Given the description of an element on the screen output the (x, y) to click on. 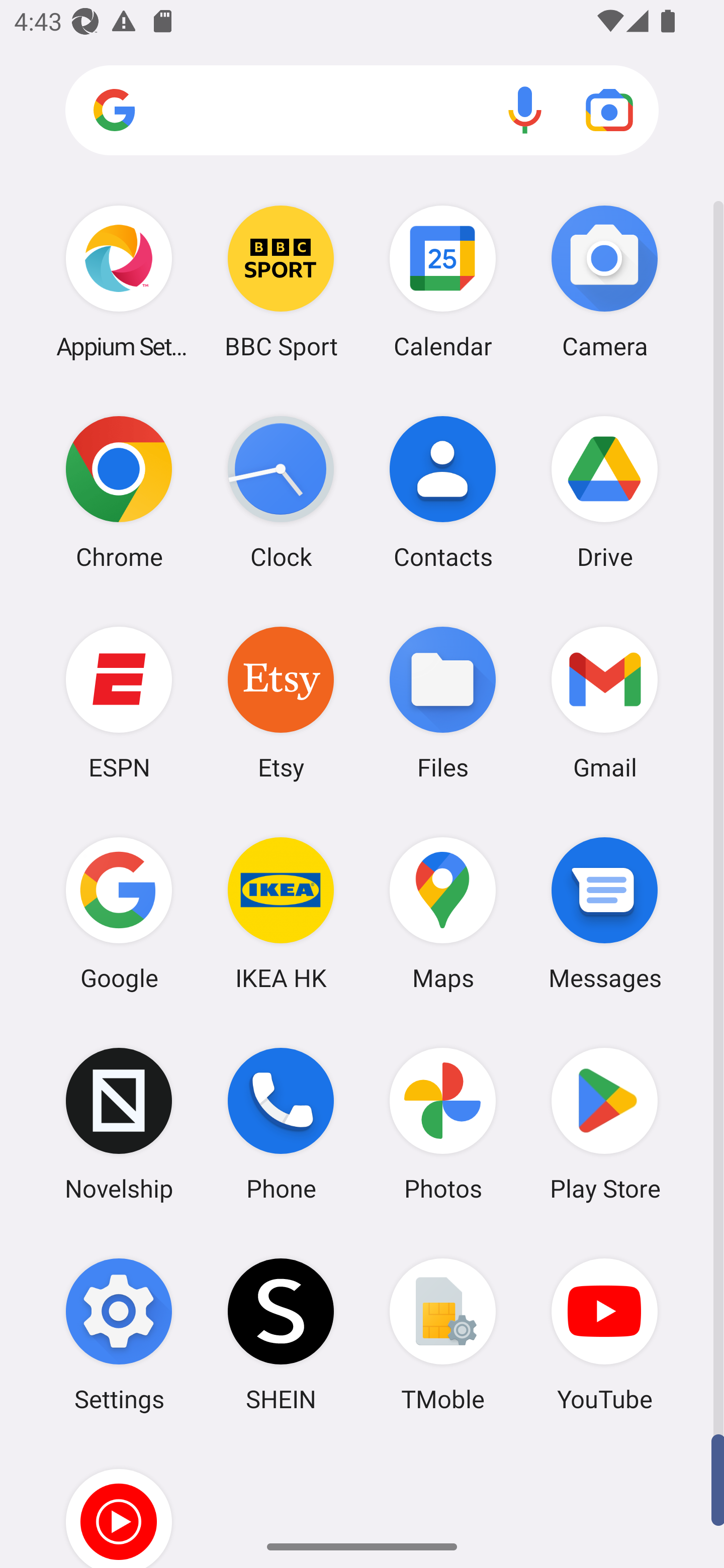
Search apps, web and more (361, 110)
Voice search (524, 109)
Google Lens (608, 109)
Appium Settings (118, 281)
BBC Sport (280, 281)
Calendar (443, 281)
Camera (604, 281)
Chrome (118, 492)
Clock (280, 492)
Contacts (443, 492)
Drive (604, 492)
ESPN (118, 702)
Etsy (280, 702)
Files (443, 702)
Gmail (604, 702)
Google (118, 913)
IKEA HK (280, 913)
Maps (443, 913)
Messages (604, 913)
Novelship (118, 1124)
Phone (280, 1124)
Photos (443, 1124)
Play Store (604, 1124)
Settings (118, 1334)
SHEIN (280, 1334)
TMoble (443, 1334)
YouTube (604, 1334)
YT Music (118, 1503)
